Given the description of an element on the screen output the (x, y) to click on. 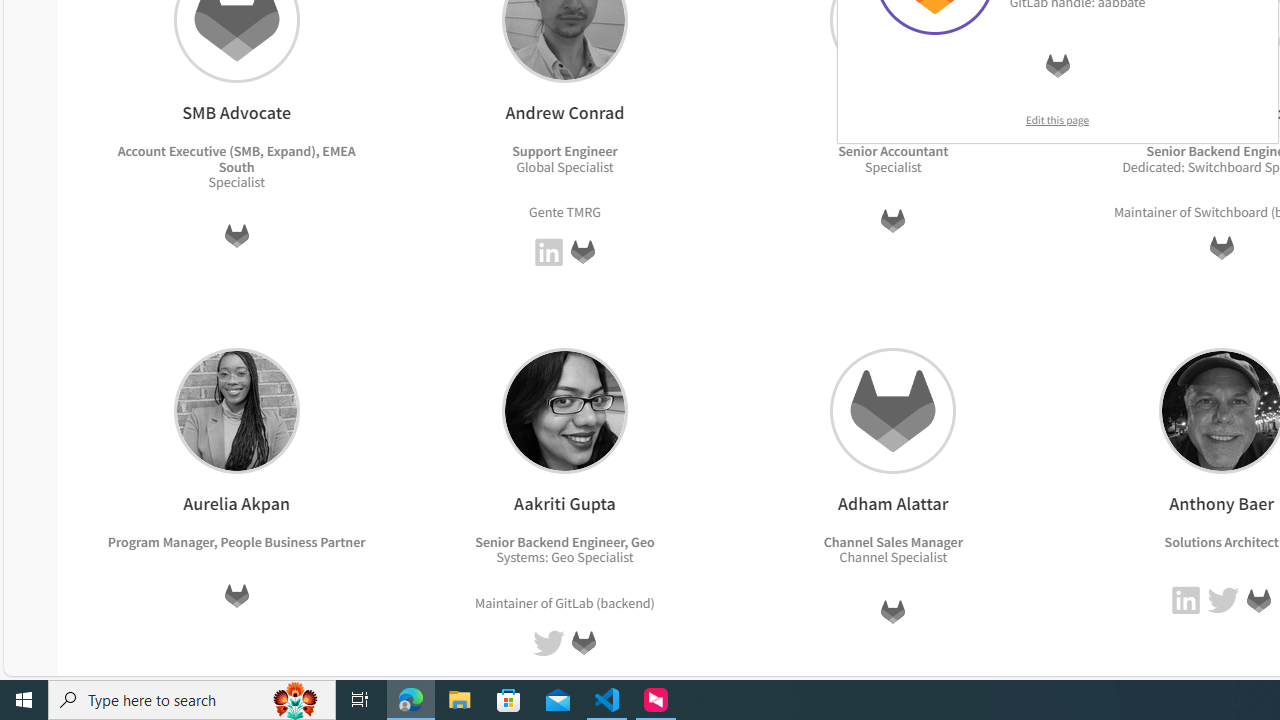
Adham Alattar (893, 409)
Solutions Architect (1220, 541)
Specialist (918, 557)
Aurelia Akpan (235, 410)
Channel Sales Manager (892, 541)
Aakriti Gupta (564, 409)
GitLab (1257, 600)
Program Manager, People Business Partner (236, 541)
Switchboard (1230, 211)
Maintainer of GitLab (backend) (564, 601)
Senior Backend Engineer, Geo (564, 541)
Adham Alattar (893, 410)
Maintainer (505, 602)
Account Executive (SMB, Expand), EMEA South (235, 158)
Aurelia Akpan (236, 409)
